Given the description of an element on the screen output the (x, y) to click on. 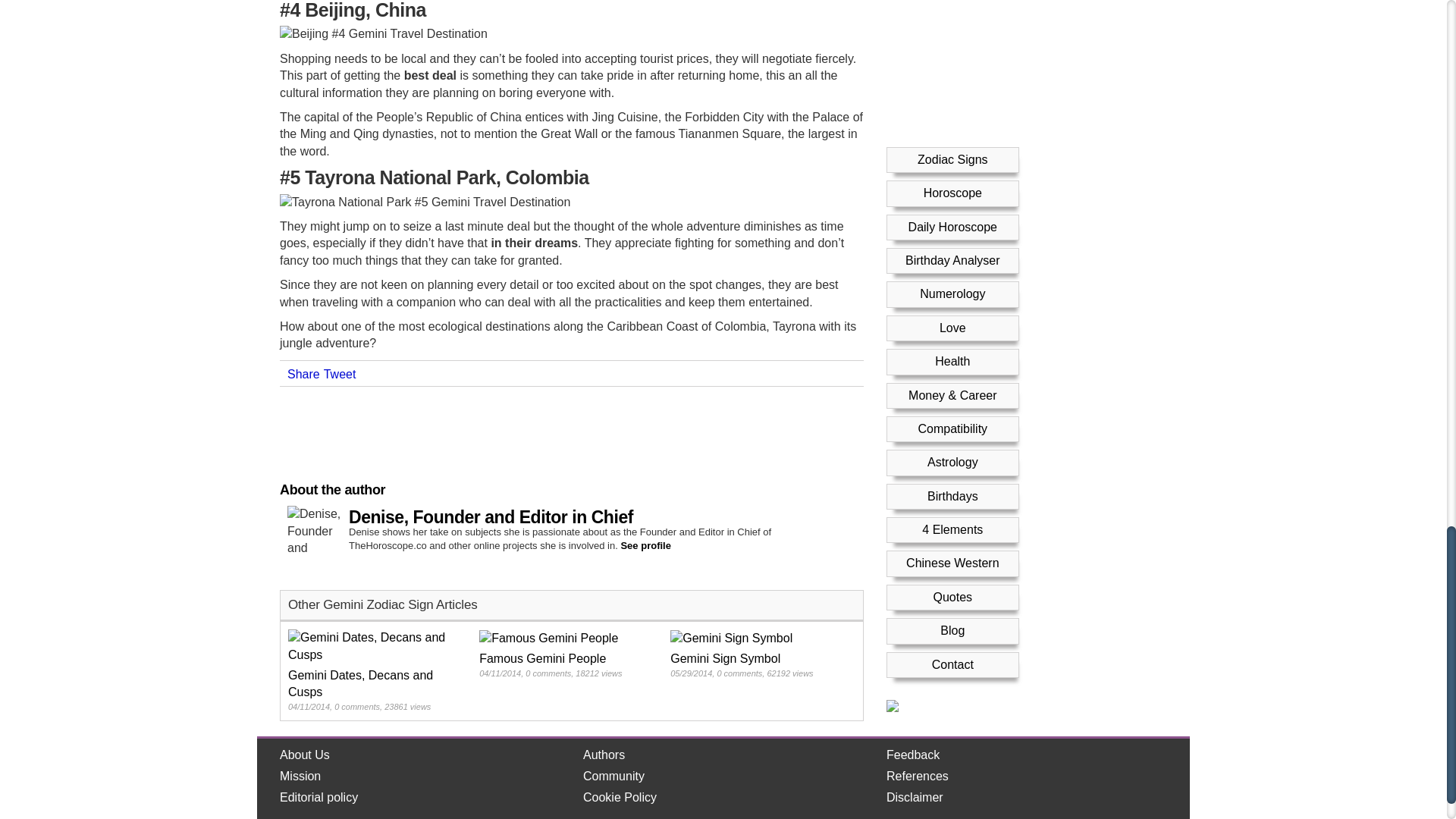
Gemini Sign Symbol (756, 654)
Gemini Dates, Decans and Cusps (374, 670)
Famous Gemini People (565, 654)
